Given the description of an element on the screen output the (x, y) to click on. 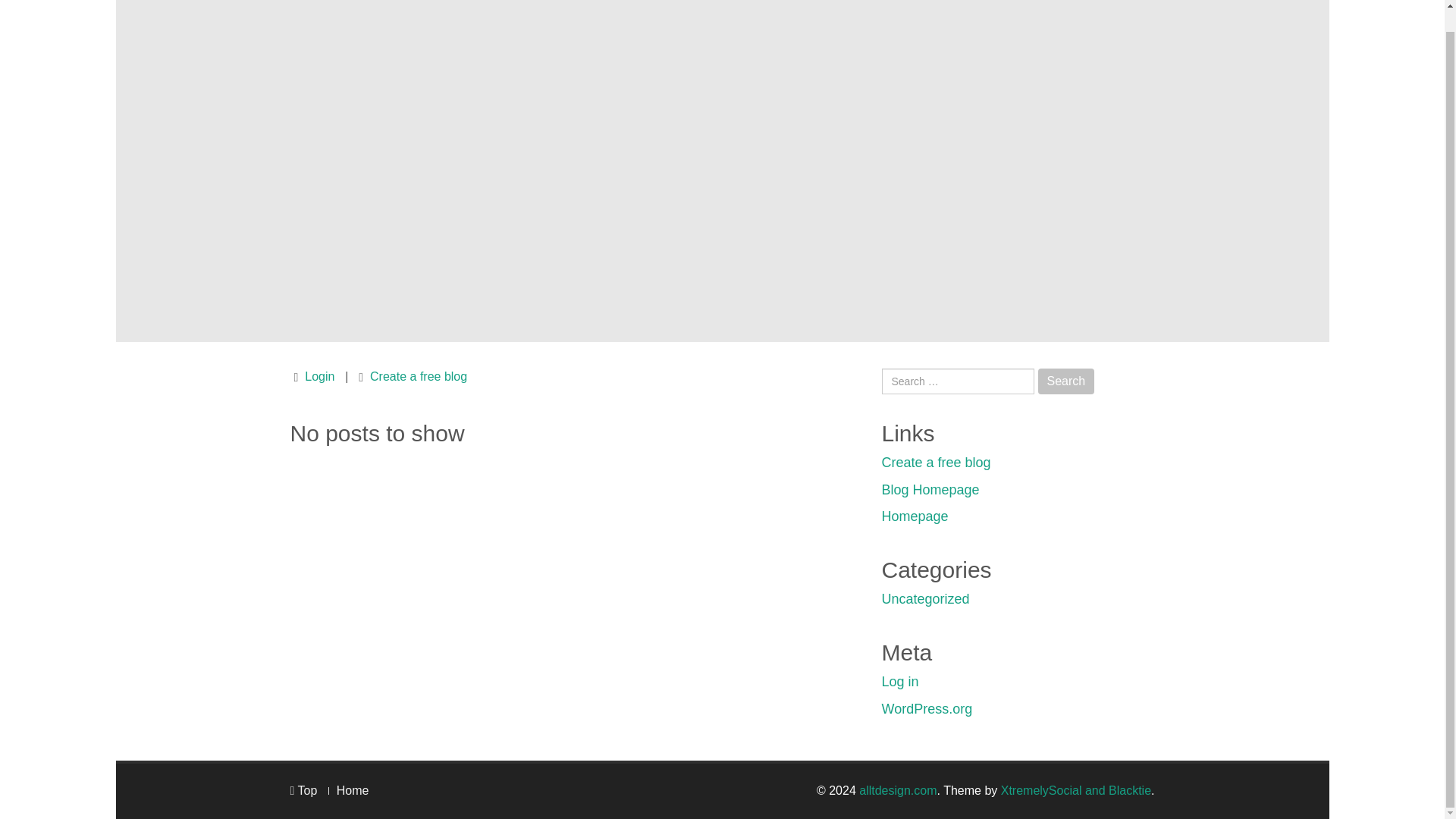
Log in (899, 681)
Create a free blog (935, 462)
Search (1066, 380)
Homepage (913, 516)
Search (1066, 380)
Login (319, 376)
Top (303, 789)
Search (1066, 380)
Blog Homepage (929, 489)
Home (352, 789)
